Given the description of an element on the screen output the (x, y) to click on. 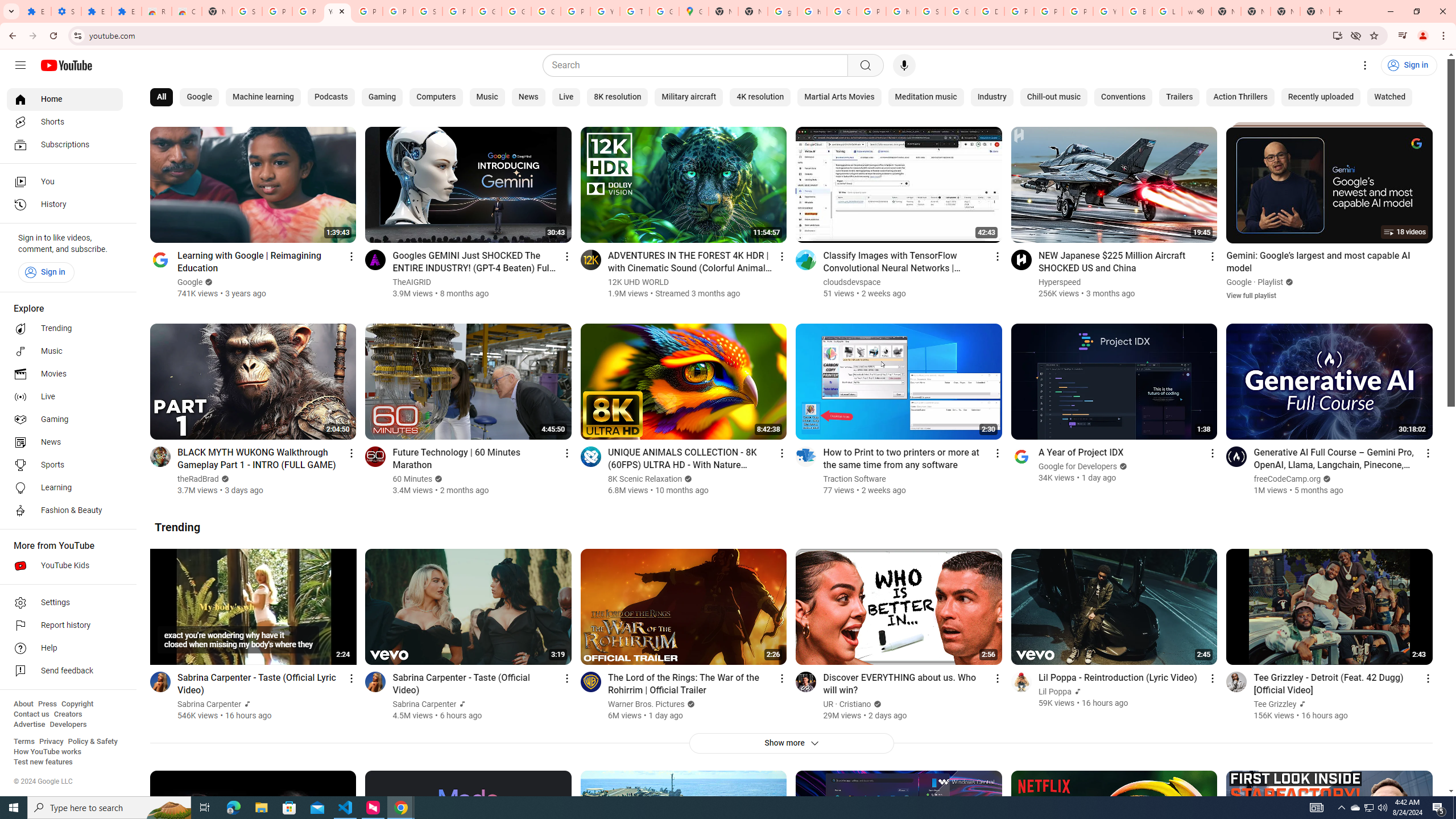
TheAIGRID (412, 282)
4K resolution (759, 97)
https://scholar.google.com/ (900, 11)
Third-party cookies blocked (1355, 35)
cloudsdevspace (851, 282)
Action Thrillers (1240, 97)
YouTube Home (66, 65)
